Given the description of an element on the screen output the (x, y) to click on. 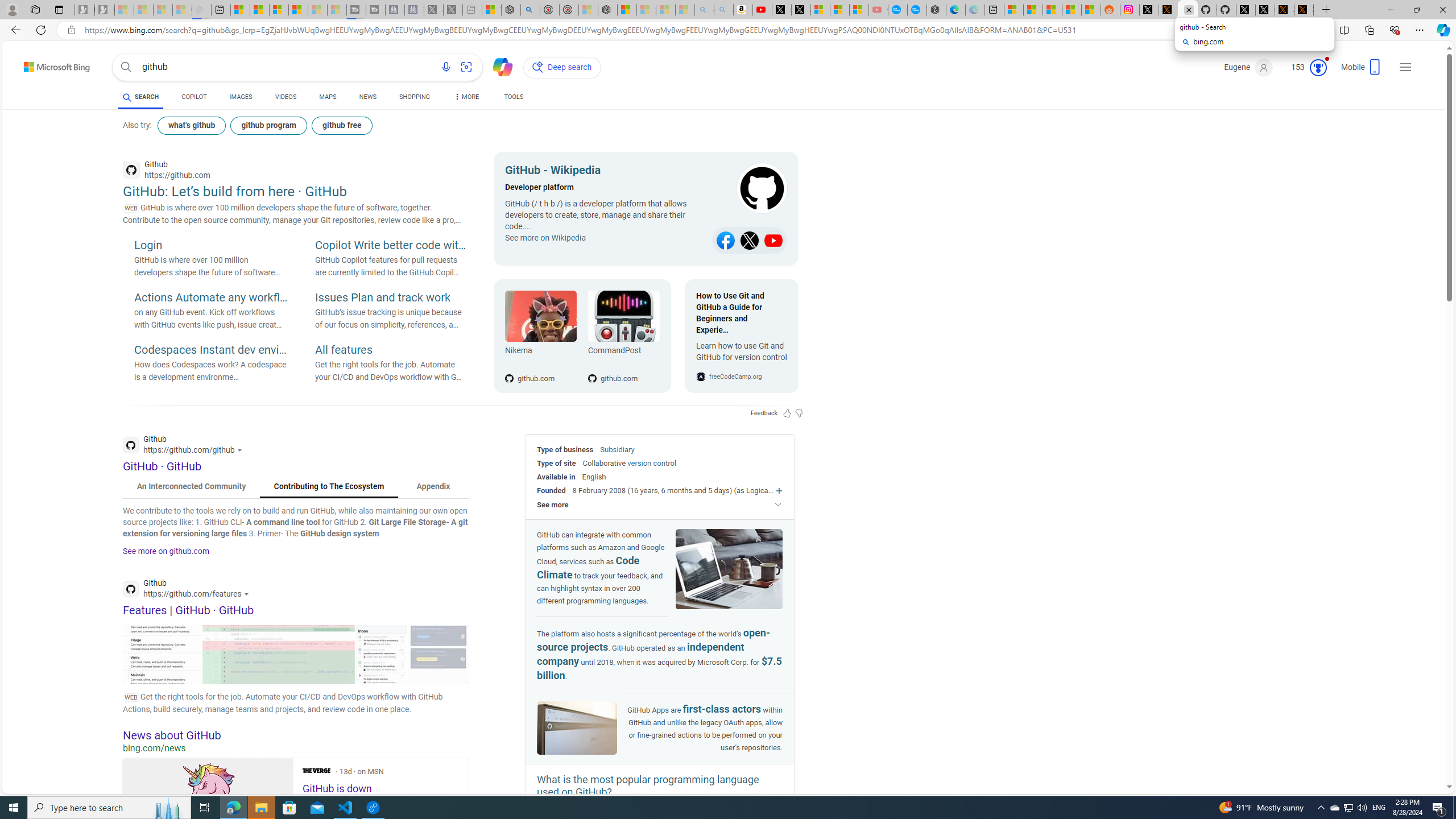
Nikema (540, 352)
COPILOT (193, 96)
Collections (1369, 29)
Copilot (Ctrl+Shift+.) (1442, 29)
VIDEOS (285, 98)
AutomationID: mfa_root (1406, 752)
Refresh (40, 29)
Wildlife - MSN (491, 9)
Microsoft account | Microsoft Account Privacy Settings (1012, 9)
Restore (1416, 9)
